Given the description of an element on the screen output the (x, y) to click on. 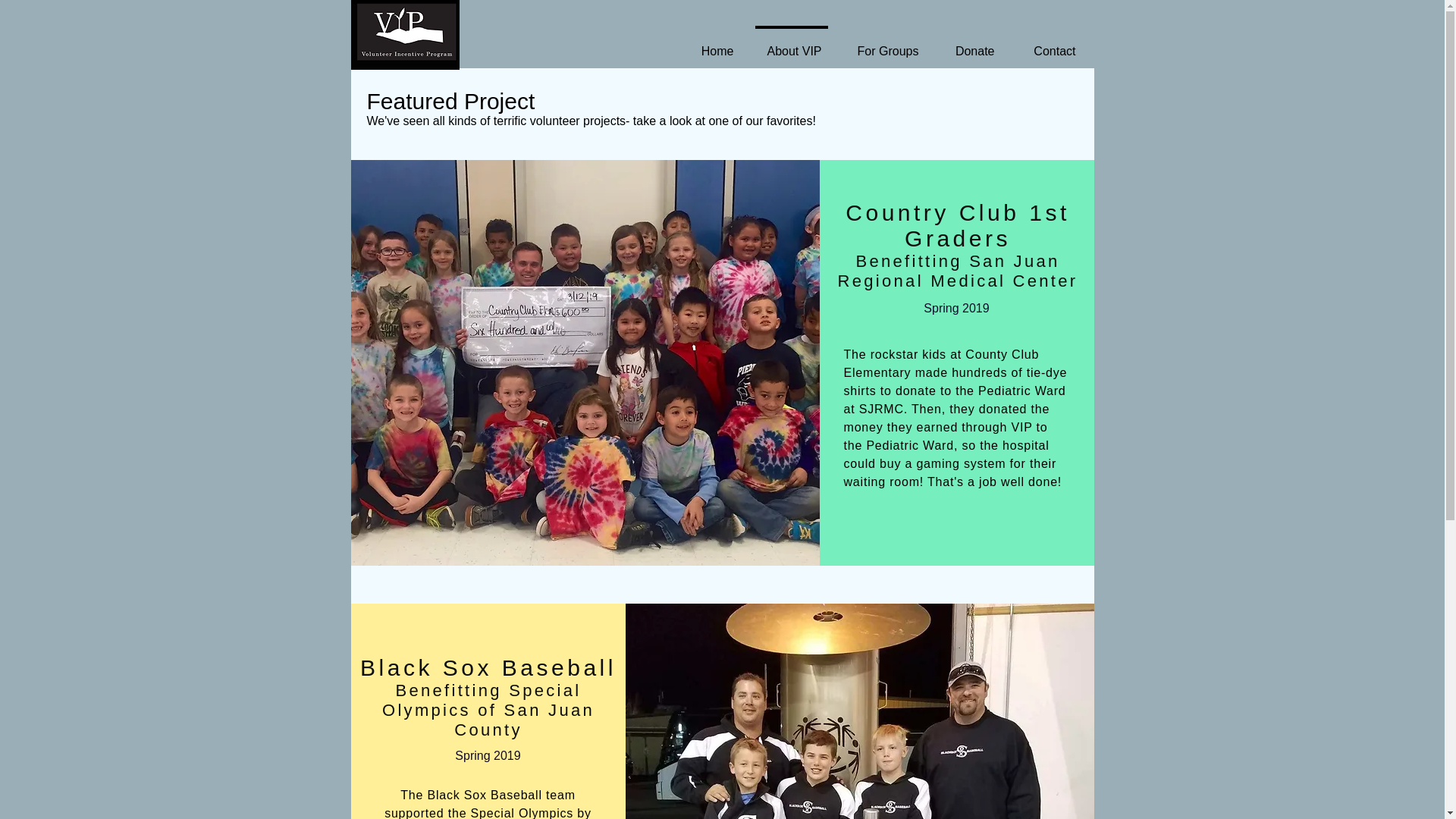
Home (714, 44)
Contact (1049, 44)
Donate (971, 44)
About VIP (791, 44)
For Groups (884, 44)
